Given the description of an element on the screen output the (x, y) to click on. 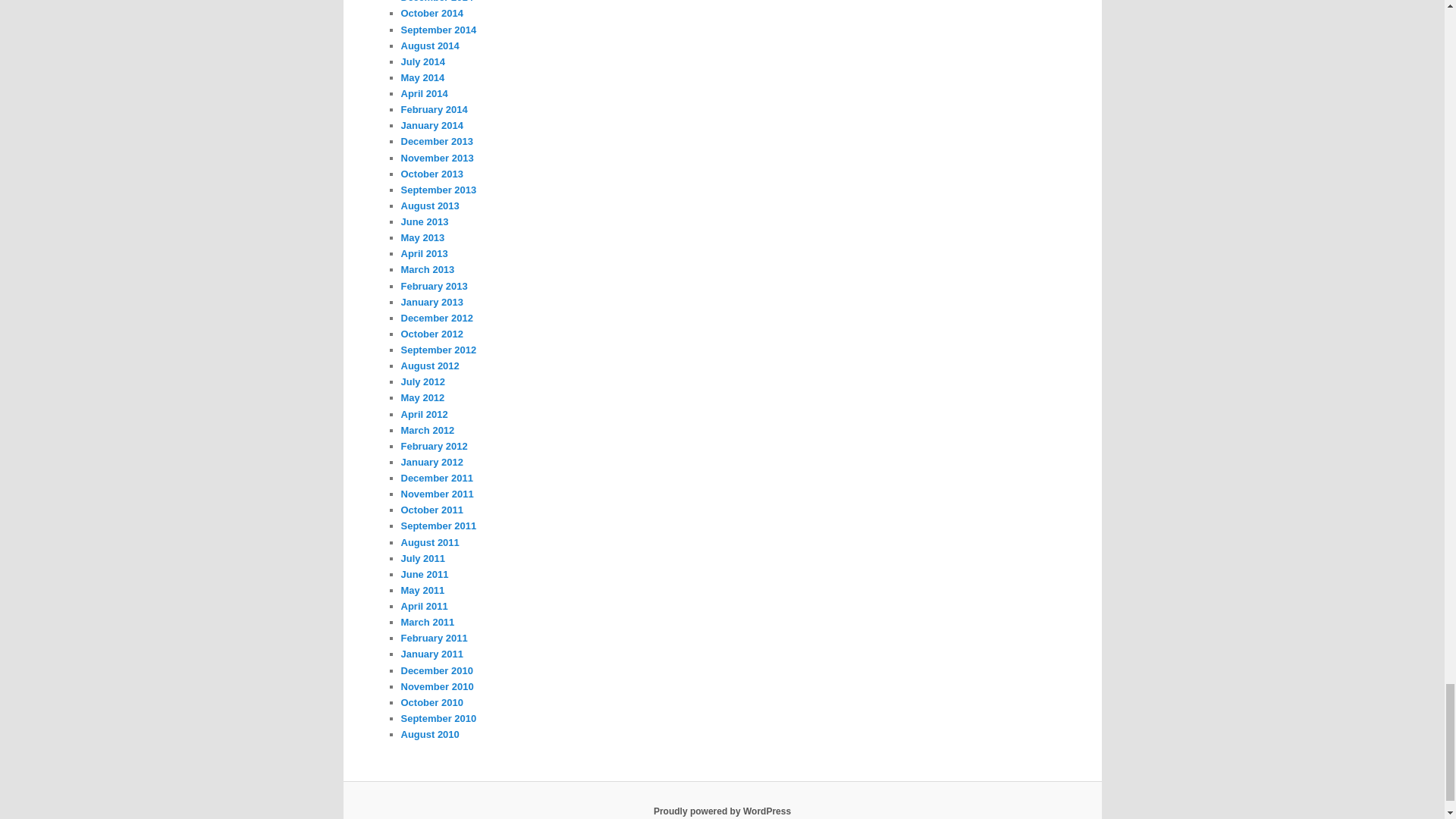
Semantic Personal Publishing Platform (721, 810)
